Given the description of an element on the screen output the (x, y) to click on. 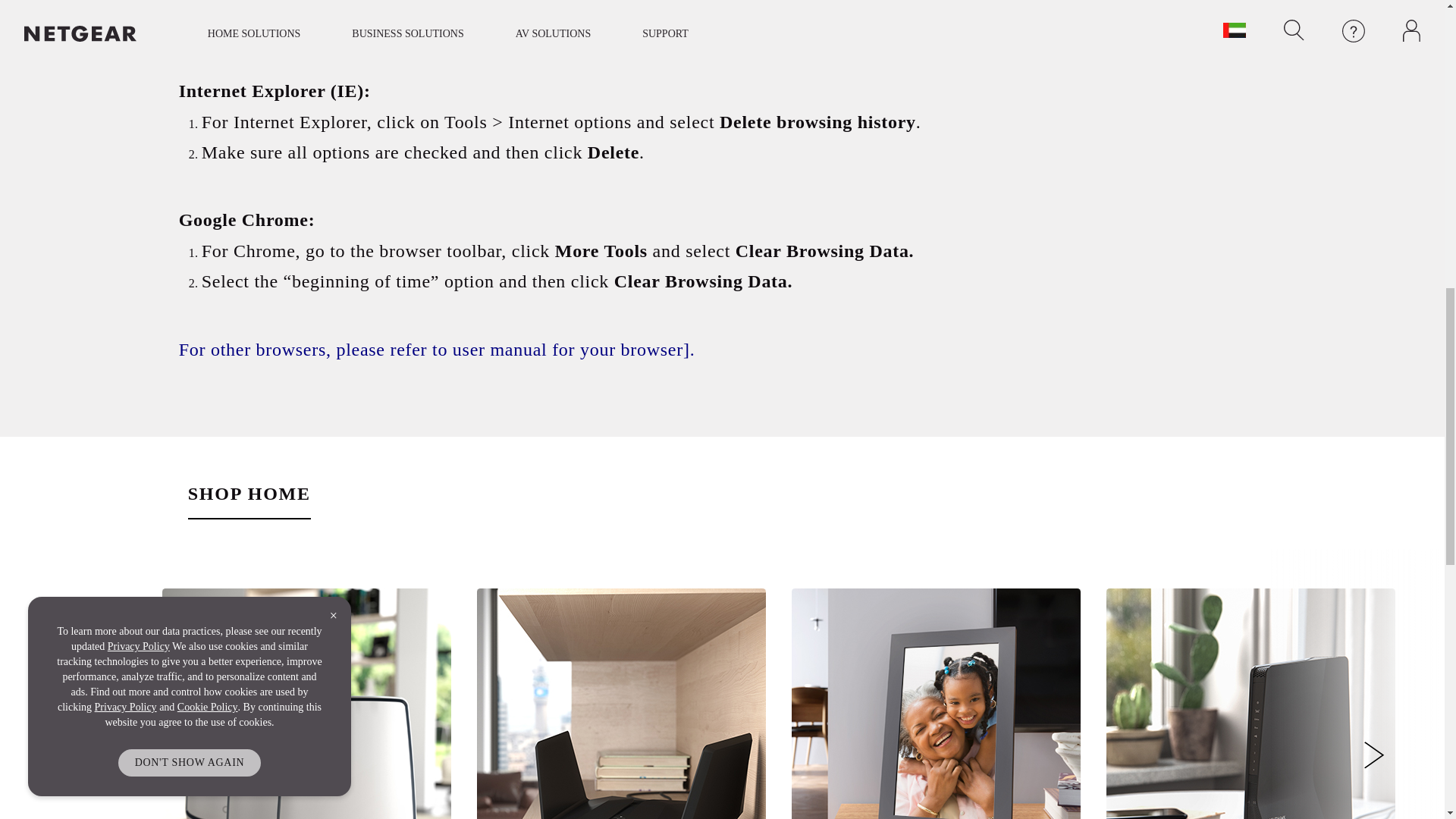
Mesh WiFi Systems (306, 703)
Mesh WiFi Systems (306, 703)
Digital Canvas (936, 703)
Range Extenders (1250, 703)
WiFi Routers (621, 703)
WiFi Routers (621, 703)
Range Extenders (1250, 703)
Digital Canvas (936, 703)
